Given the description of an element on the screen output the (x, y) to click on. 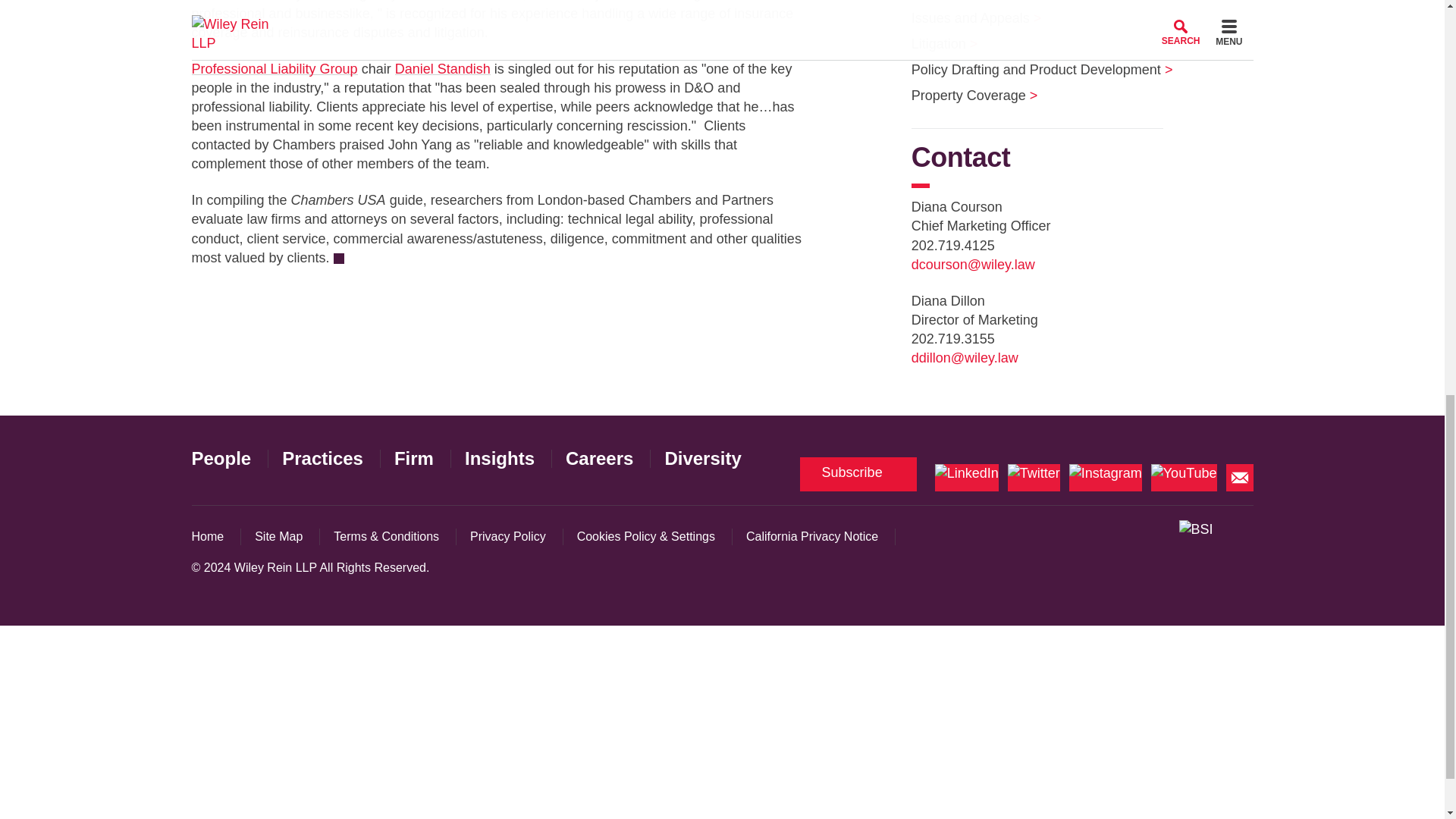
Contact Us (1238, 477)
